Given the description of an element on the screen output the (x, y) to click on. 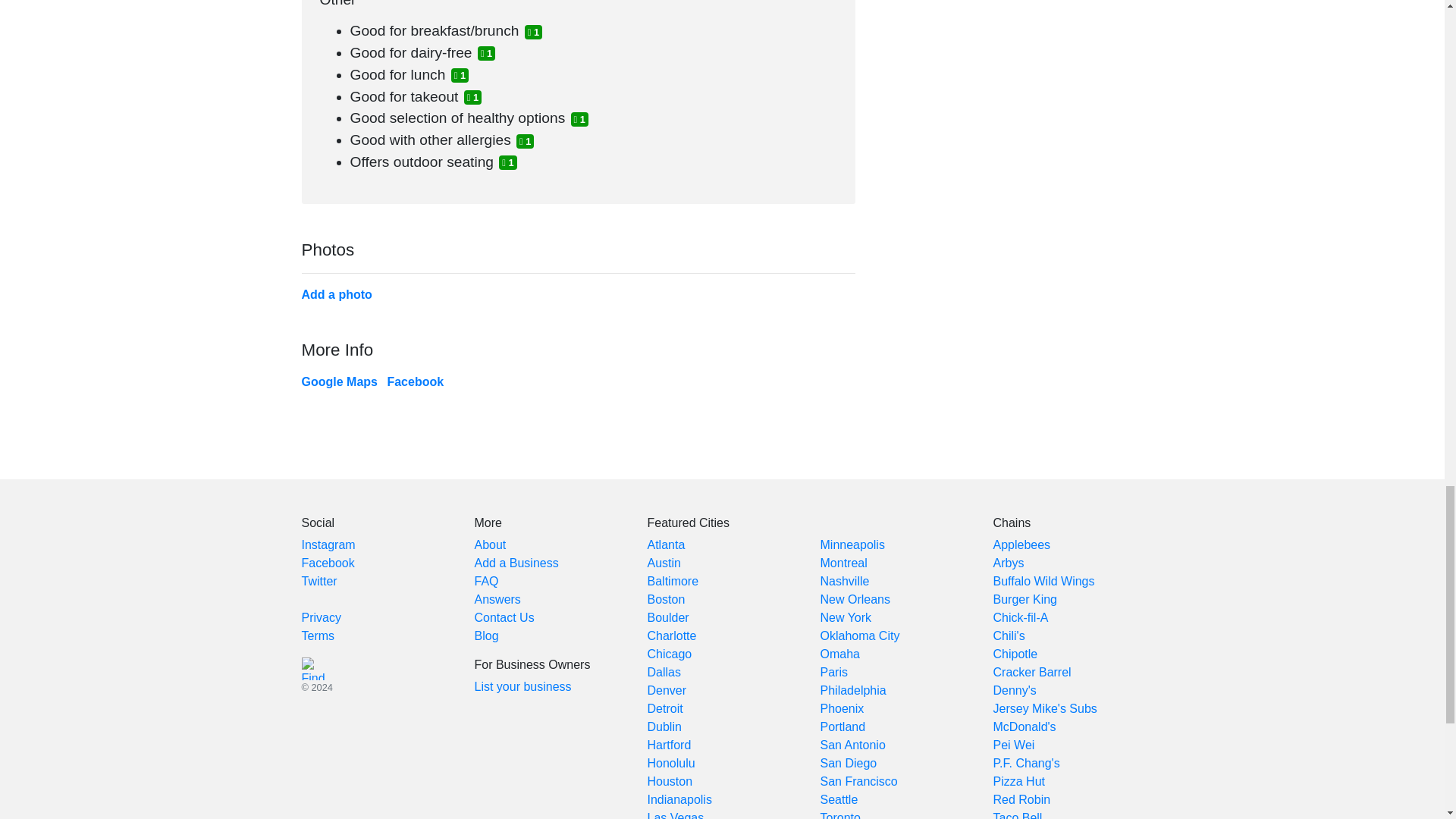
Twitter (319, 581)
Add a photo (336, 294)
FAQ (486, 581)
Facebook (328, 562)
Privacy (320, 617)
About (490, 544)
Terms (317, 635)
Add a Business (516, 562)
Facebook (415, 381)
Google Maps (339, 381)
